Given the description of an element on the screen output the (x, y) to click on. 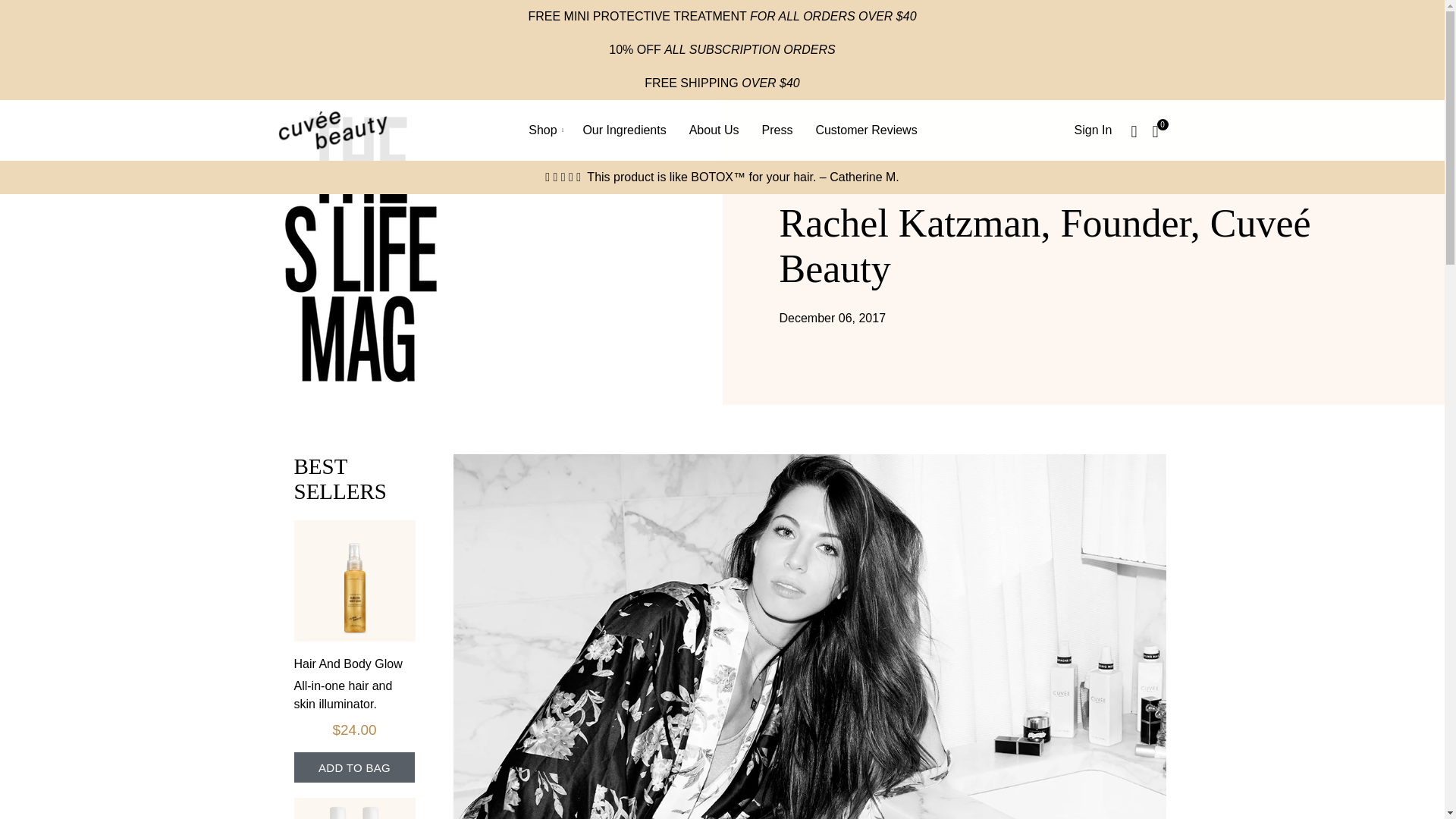
View All (367, 57)
Press (776, 129)
Hair And Body Glow (348, 663)
Customer Reviews (865, 129)
NEW Hair Quiz (519, 21)
Sign In (1093, 129)
Our Ingredients (623, 129)
Shop (545, 130)
ADD TO BAG (354, 767)
About Us (714, 129)
